Given the description of an element on the screen output the (x, y) to click on. 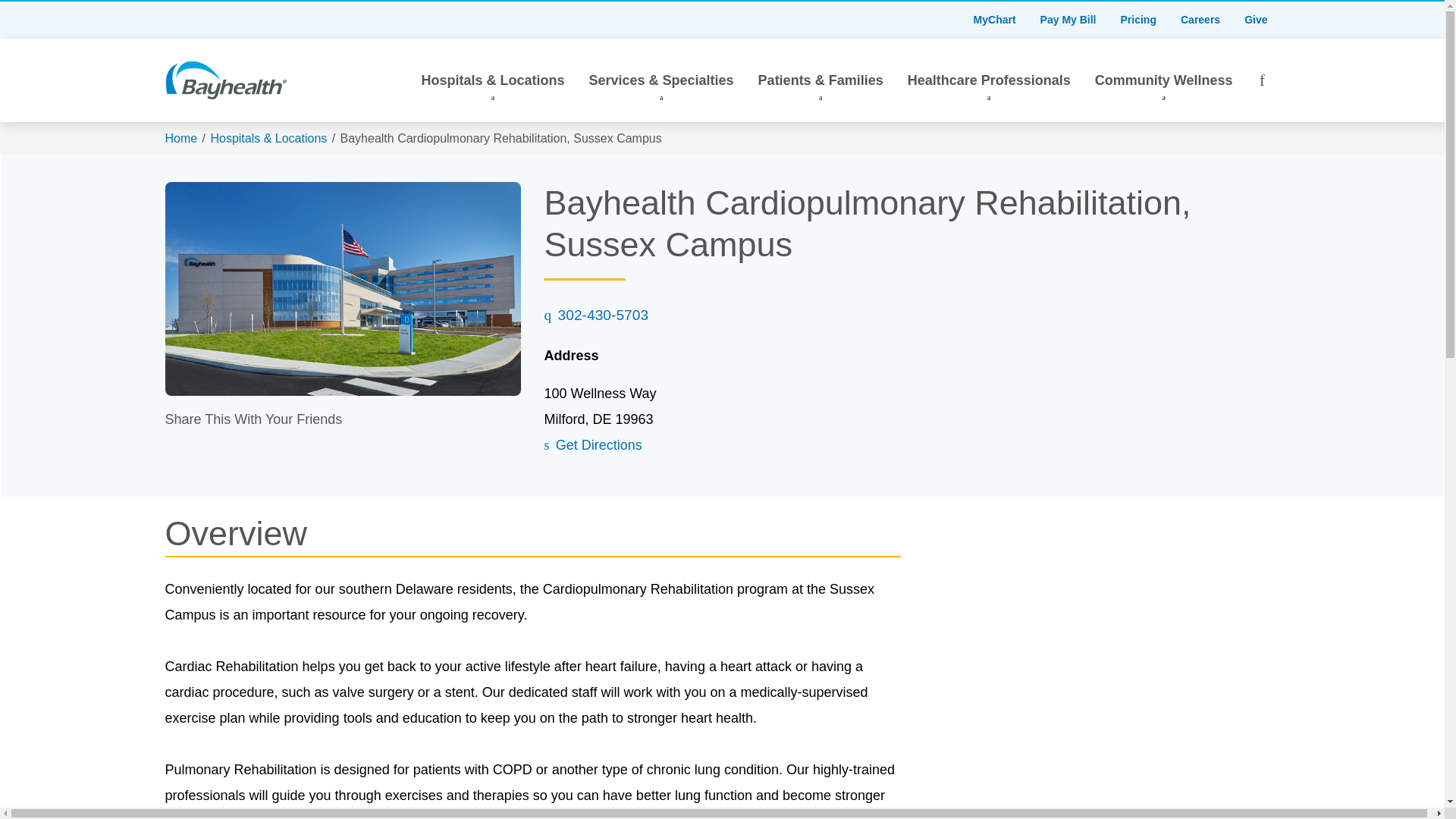
Pay My Bill (1067, 19)
Bayhealth (225, 79)
Pricing (1138, 19)
Pay My Bill (1067, 19)
MyChart (993, 19)
Careers (1200, 19)
Pricing (1138, 19)
Give (1255, 19)
